Given the description of an element on the screen output the (x, y) to click on. 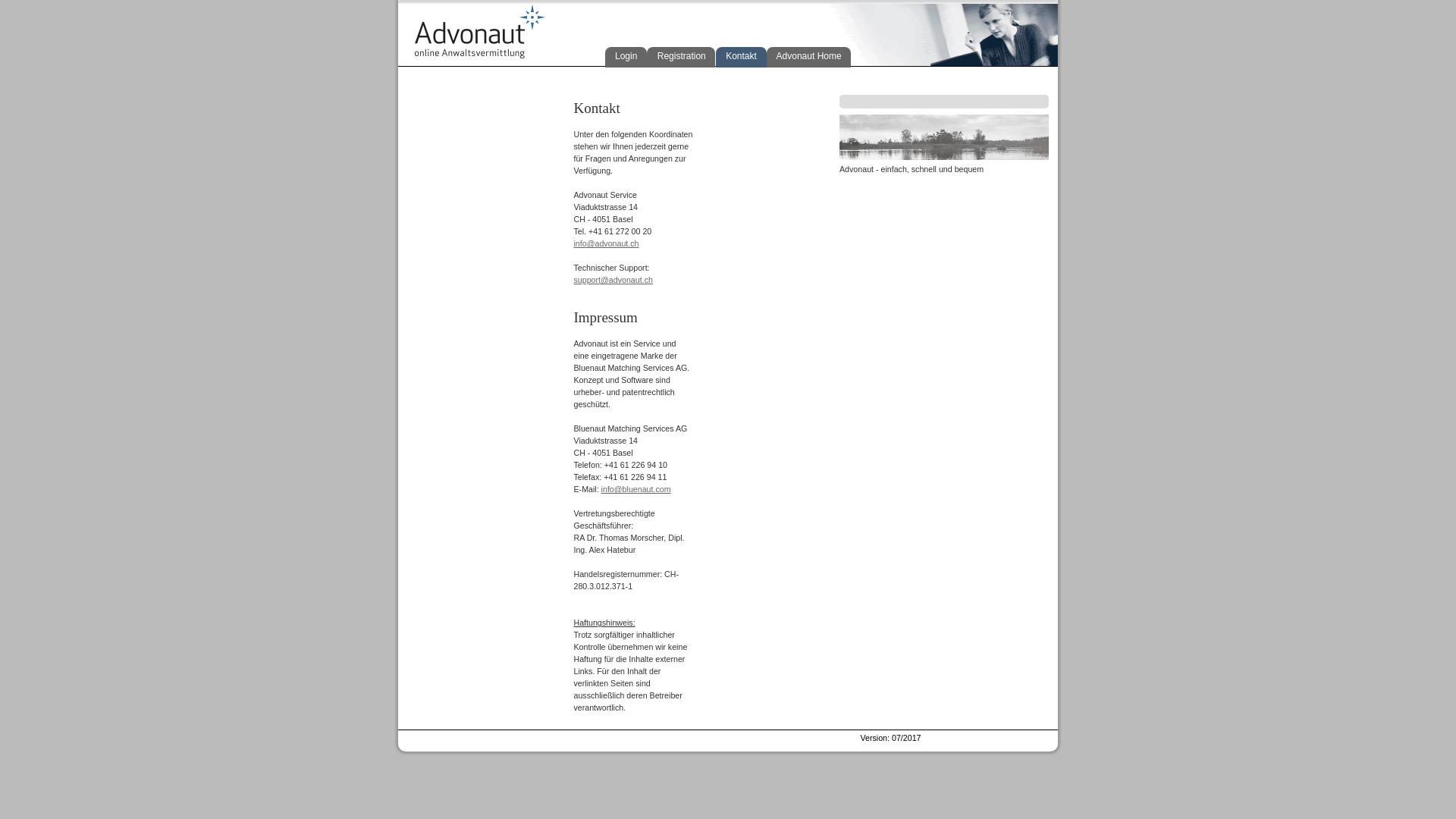
    Kontakt   Element type: text (740, 57)
    Login   Element type: text (625, 57)
    Advonaut Home   Element type: text (808, 57)
info@bluenaut.com Element type: text (636, 488)
info@advonaut.ch Element type: text (605, 242)
support@advonaut.ch Element type: text (612, 279)
    Registration   Element type: text (680, 57)
